Given the description of an element on the screen output the (x, y) to click on. 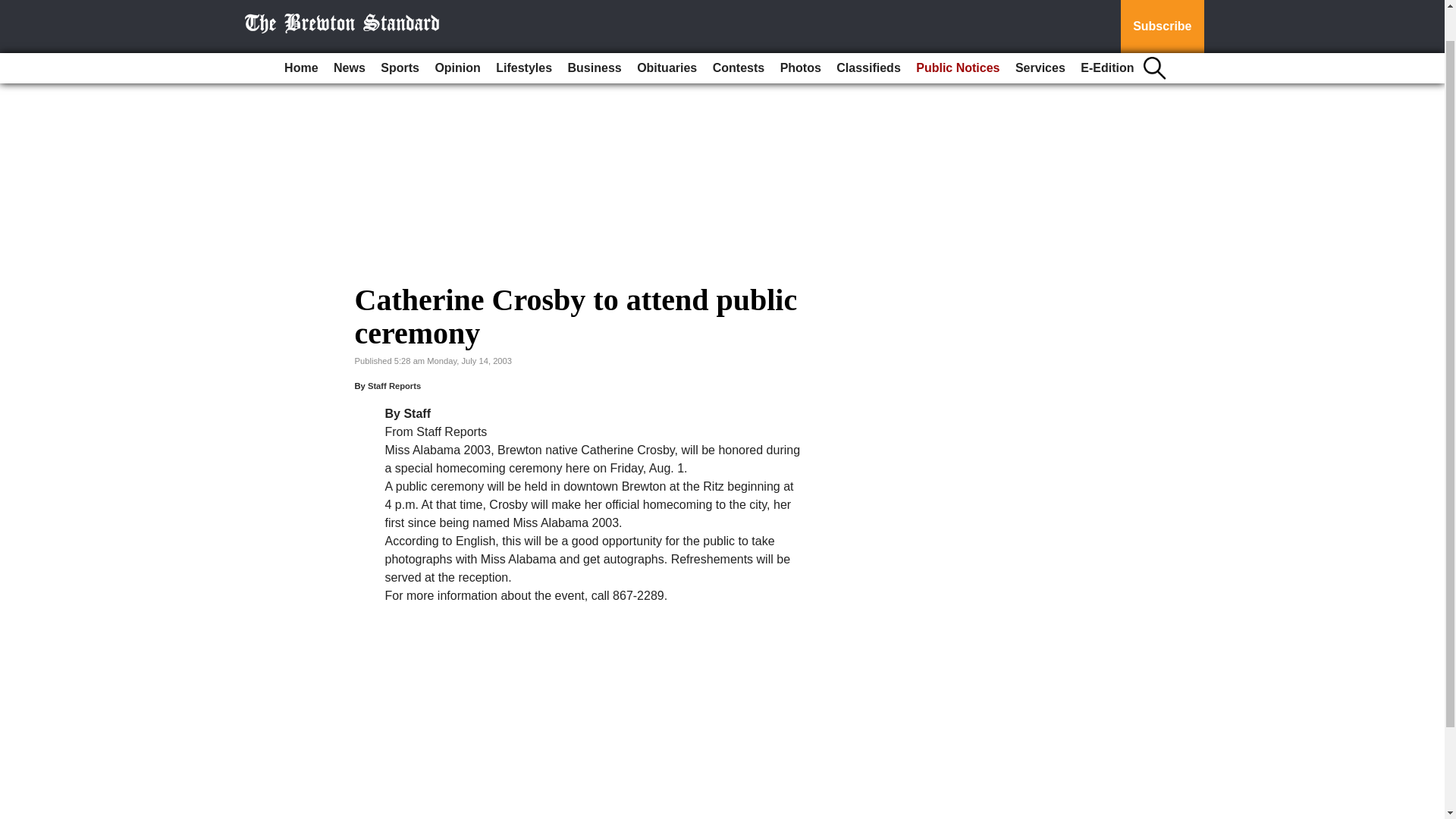
Contests (738, 32)
Home (300, 32)
Public Notices (958, 32)
Subscribe (1162, 8)
Opinion (457, 32)
Services (1040, 32)
Obituaries (666, 32)
News (349, 32)
Sports (399, 32)
E-Edition (1107, 32)
